Given the description of an element on the screen output the (x, y) to click on. 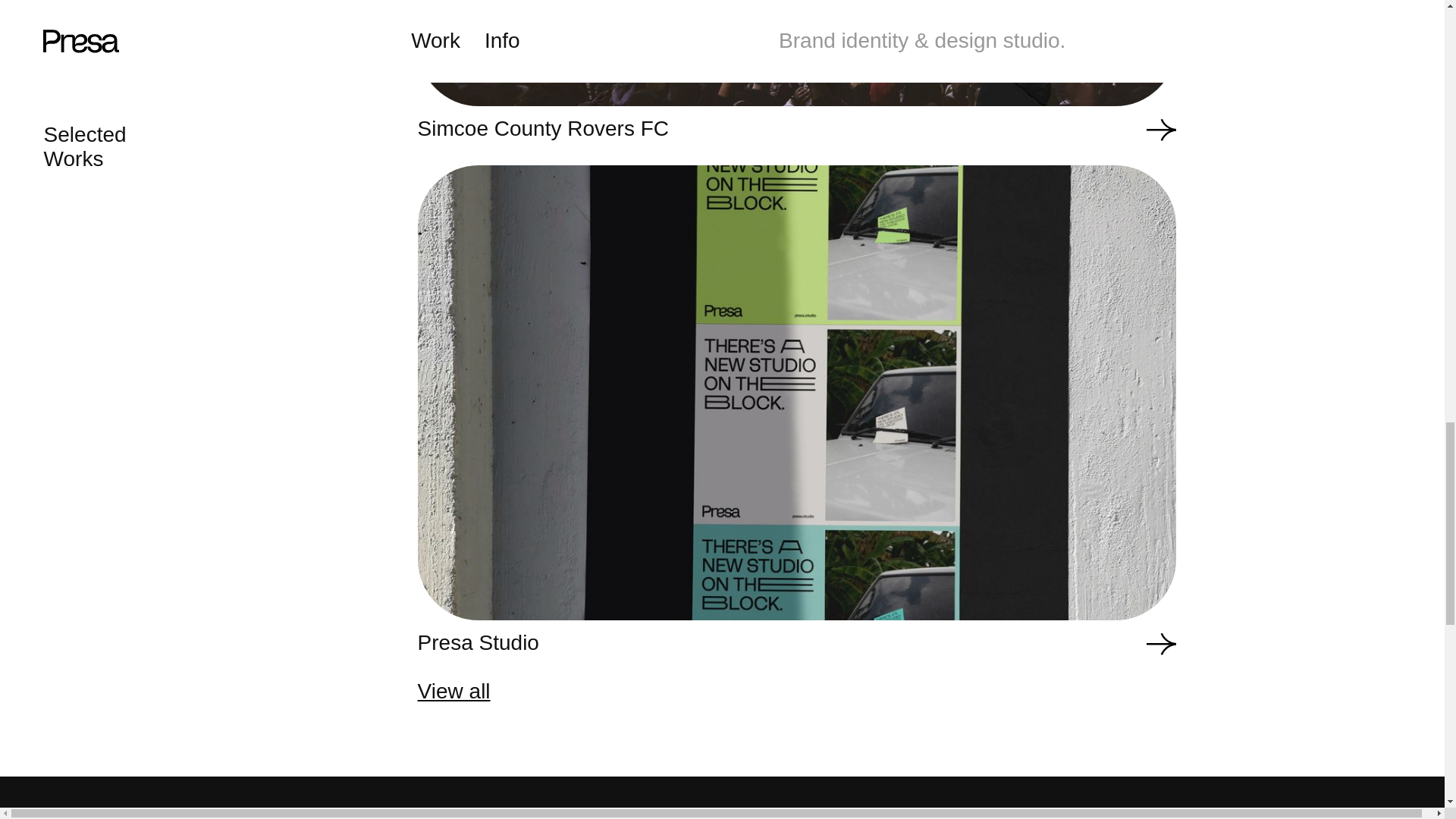
Simcoe County Rovers FC (796, 70)
View all (914, 691)
